Given the description of an element on the screen output the (x, y) to click on. 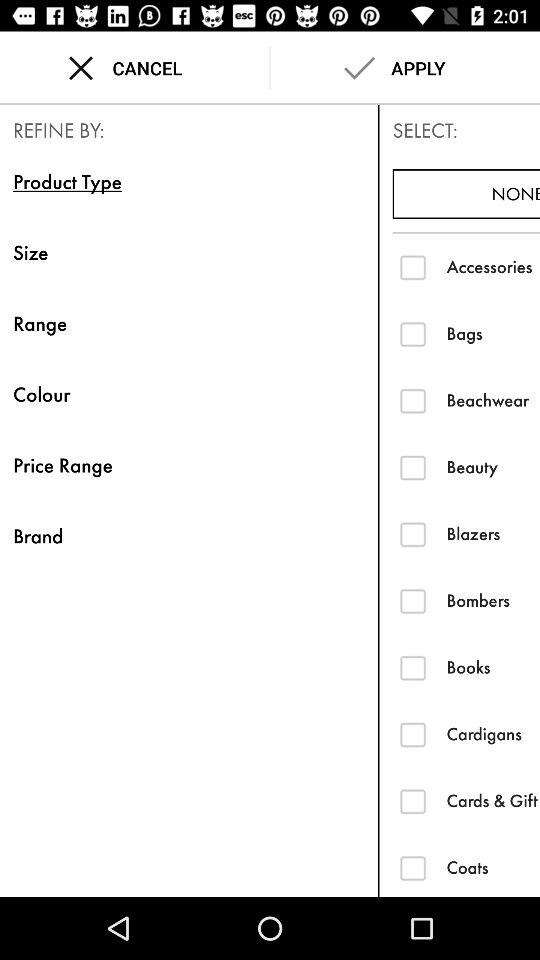
tap the icon below the books (493, 734)
